Given the description of an element on the screen output the (x, y) to click on. 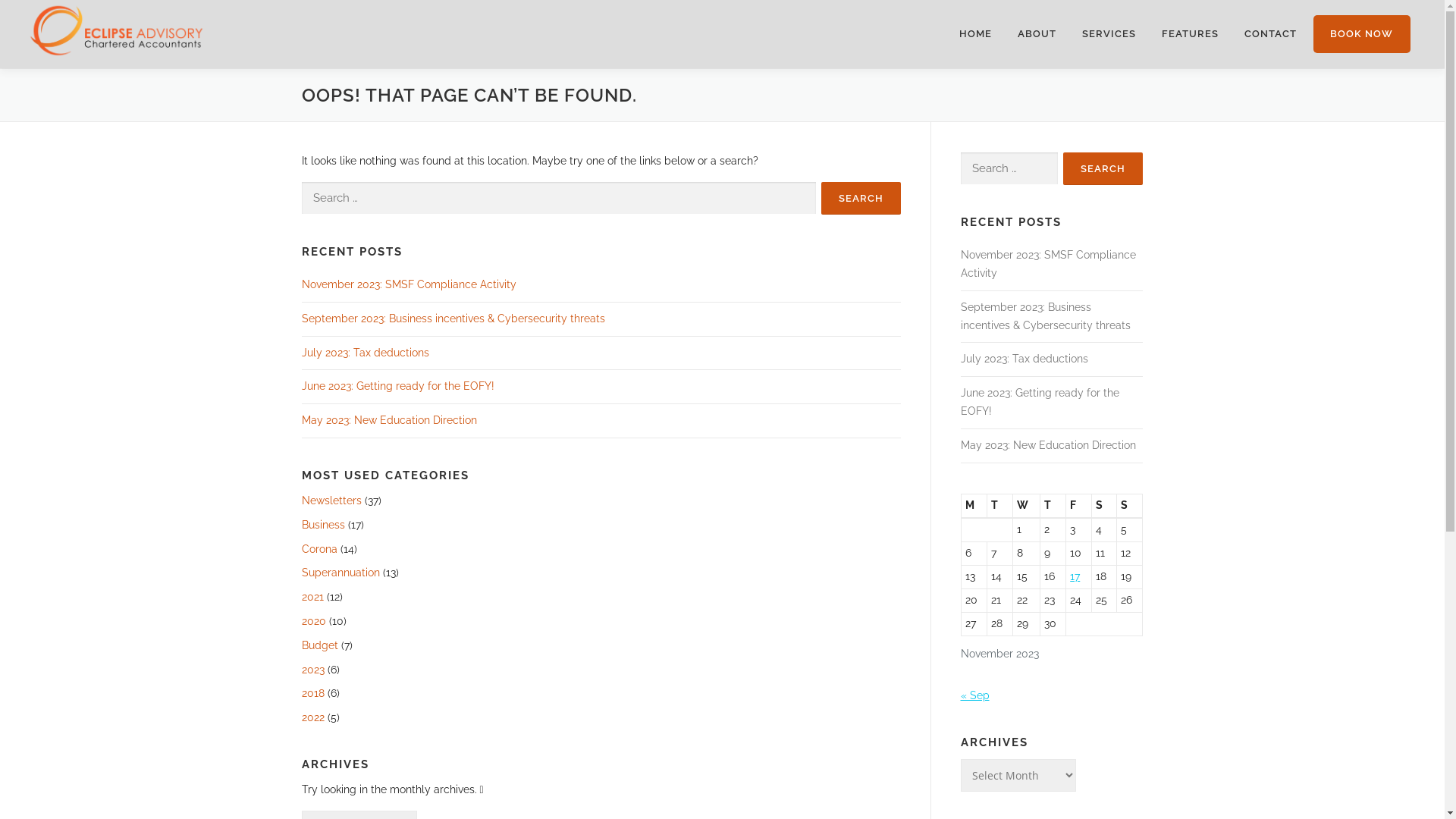
2023 Element type: text (312, 669)
September 2023: Business incentives & Cybersecurity threats Element type: text (453, 318)
ABOUT Element type: text (1036, 34)
2022 Element type: text (312, 717)
May 2023: New Education Direction Element type: text (1047, 445)
2020 Element type: text (313, 621)
CONTACT Element type: text (1270, 34)
2018 Element type: text (312, 693)
Search Element type: text (860, 198)
HOME Element type: text (975, 34)
Business Element type: text (323, 524)
17 Element type: text (1074, 576)
2021 Element type: text (312, 596)
Superannuation Element type: text (340, 572)
July 2023: Tax deductions Element type: text (365, 352)
September 2023: Business incentives & Cybersecurity threats Element type: text (1044, 316)
July 2023: Tax deductions Element type: text (1023, 358)
Search Element type: text (1102, 168)
Budget Element type: text (319, 645)
SERVICES Element type: text (1108, 34)
June 2023: Getting ready for the EOFY! Element type: text (1039, 401)
FEATURES Element type: text (1189, 34)
November 2023: SMSF Compliance Activity Element type: text (1047, 263)
June 2023: Getting ready for the EOFY! Element type: text (397, 385)
Corona Element type: text (319, 548)
May 2023: New Education Direction Element type: text (388, 420)
BOOK NOW Element type: text (1355, 33)
November 2023: SMSF Compliance Activity Element type: text (408, 284)
Newsletters Element type: text (331, 500)
